Given the description of an element on the screen output the (x, y) to click on. 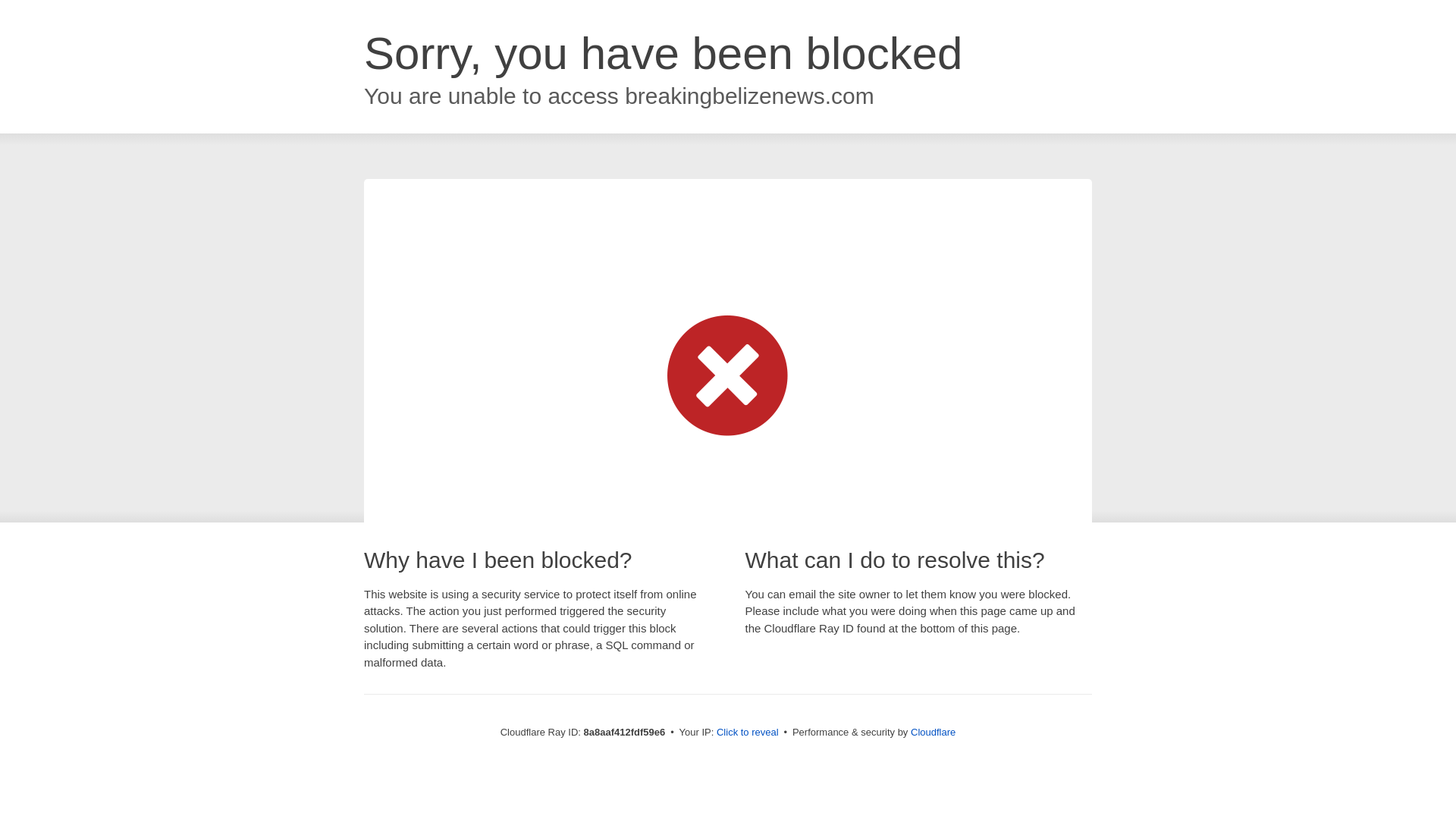
Cloudflare (933, 731)
Click to reveal (747, 732)
